Given the description of an element on the screen output the (x, y) to click on. 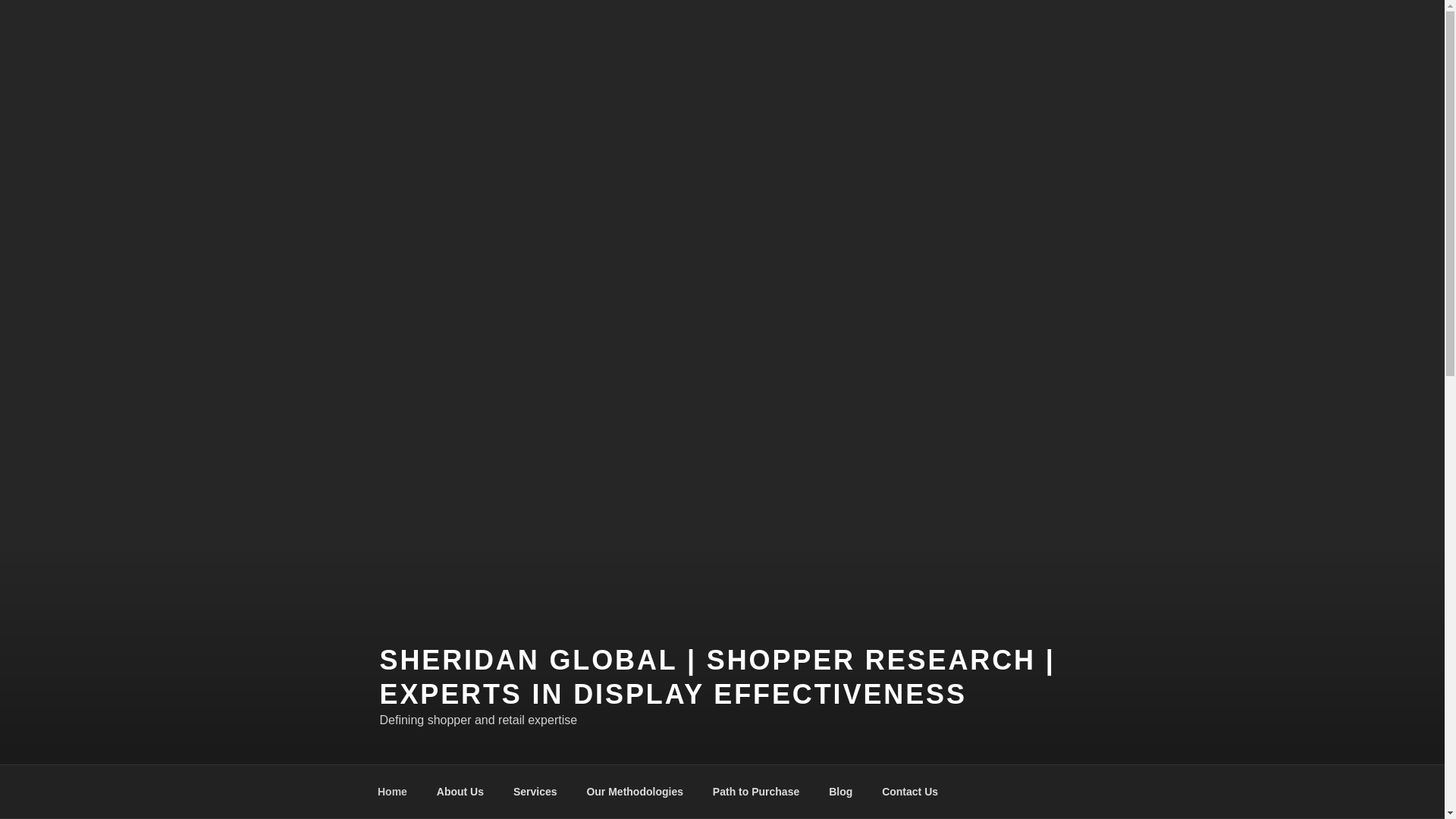
Home (392, 791)
Contact Us (910, 791)
Path to Purchase (755, 791)
Services (534, 791)
Blog (840, 791)
Our Methodologies (635, 791)
About Us (459, 791)
Scroll down to content (1082, 791)
Scroll down to content (1082, 791)
